Given the description of an element on the screen output the (x, y) to click on. 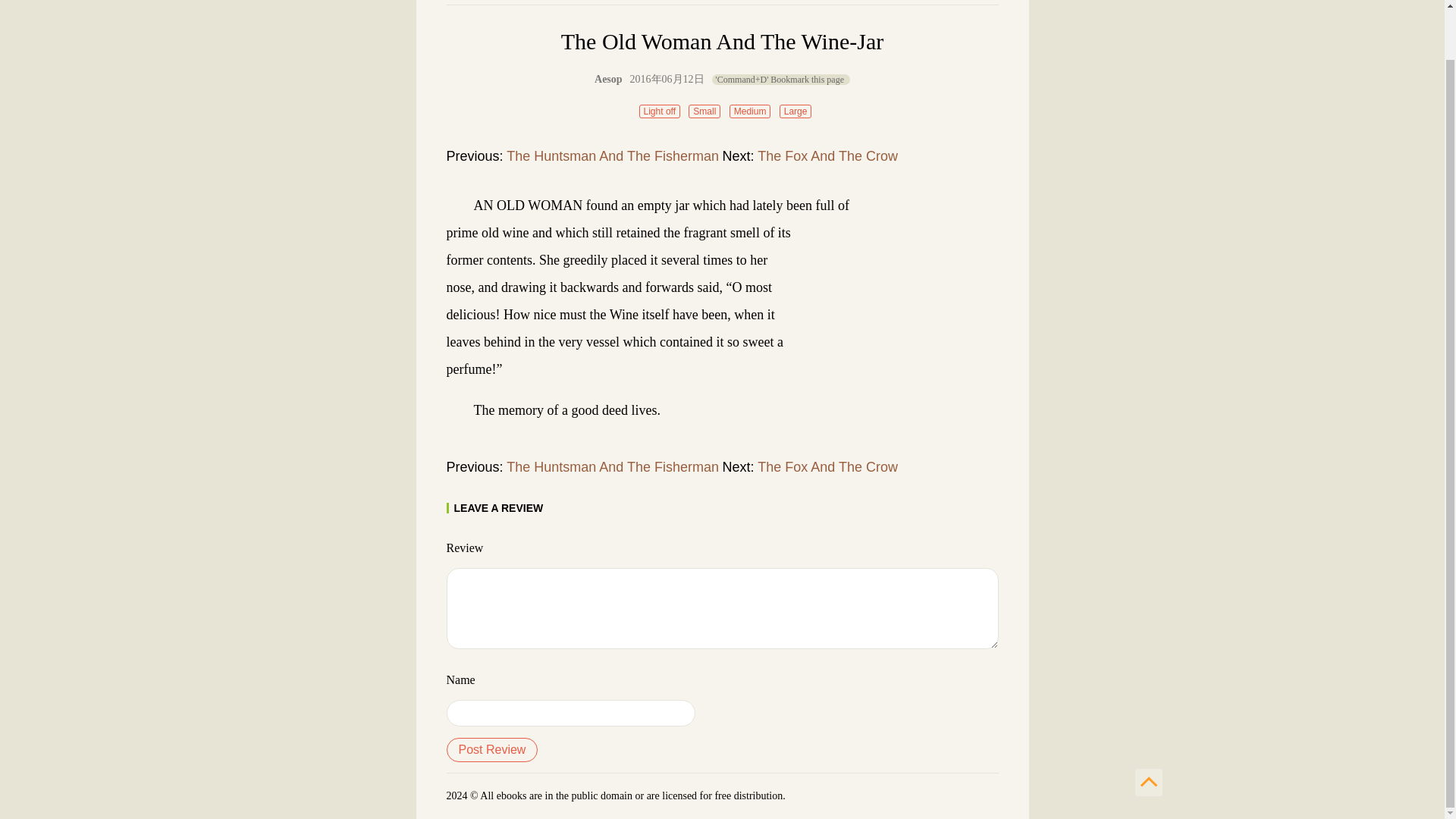
The Huntsman And The Fisherman (612, 467)
The Fox And The Crow (827, 467)
The Huntsman And The Fisherman (612, 155)
Post Review (491, 749)
Post Review (491, 749)
The Fox And The Crow (827, 155)
